Given the description of an element on the screen output the (x, y) to click on. 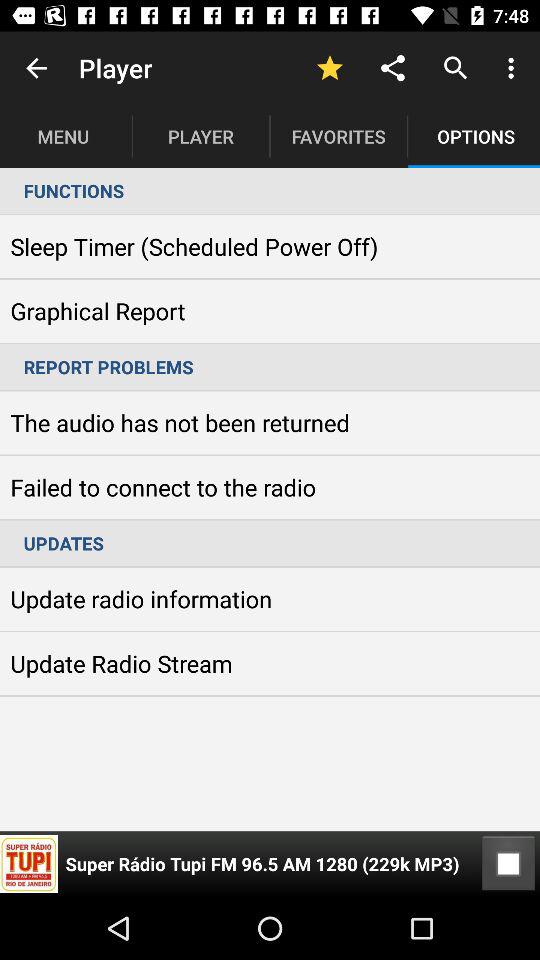
click the item at the bottom right corner (508, 863)
